Given the description of an element on the screen output the (x, y) to click on. 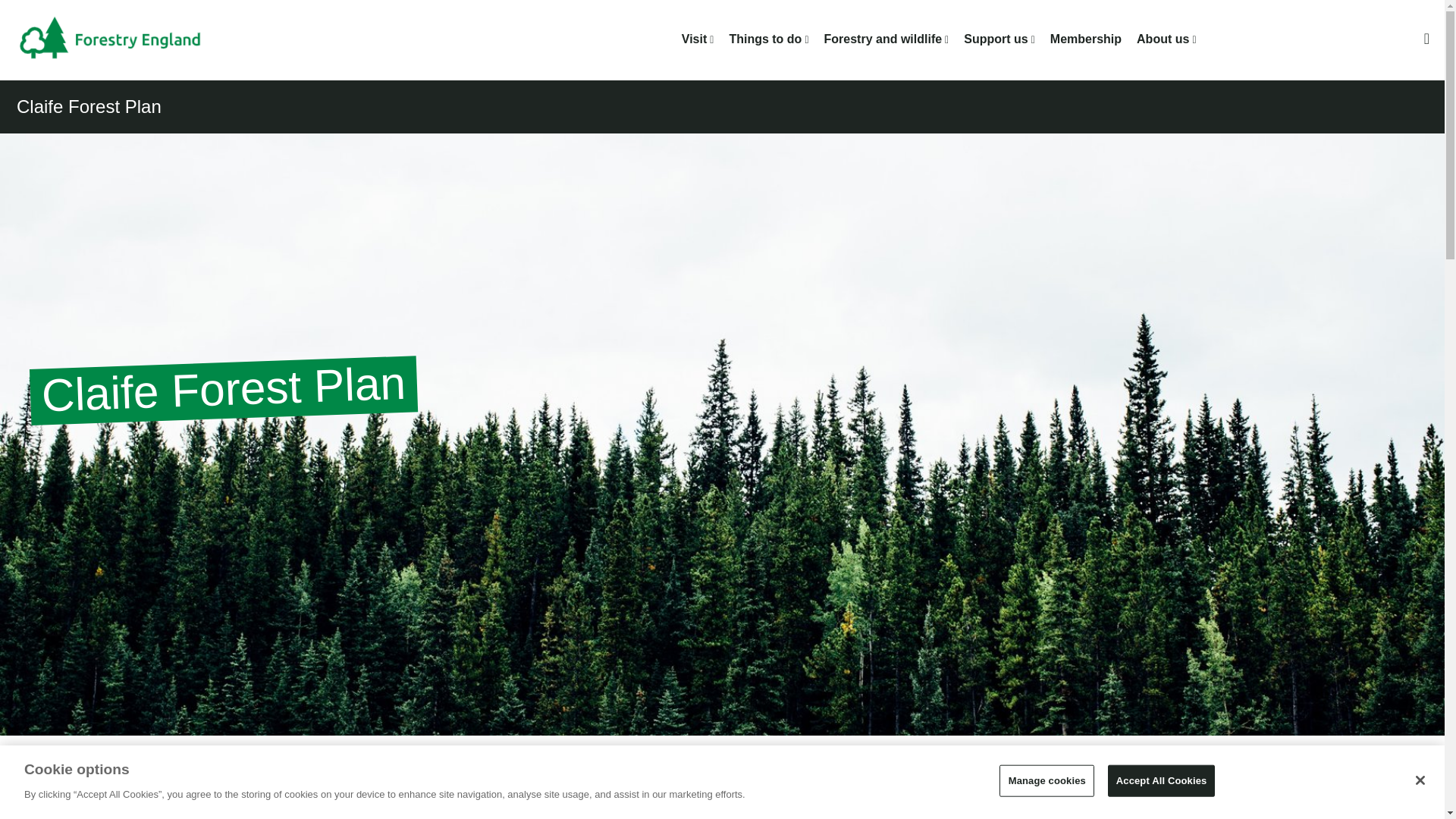
Forestry and wildlife (883, 38)
Home (120, 40)
Visit (694, 38)
Things to do (765, 38)
